Given the description of an element on the screen output the (x, y) to click on. 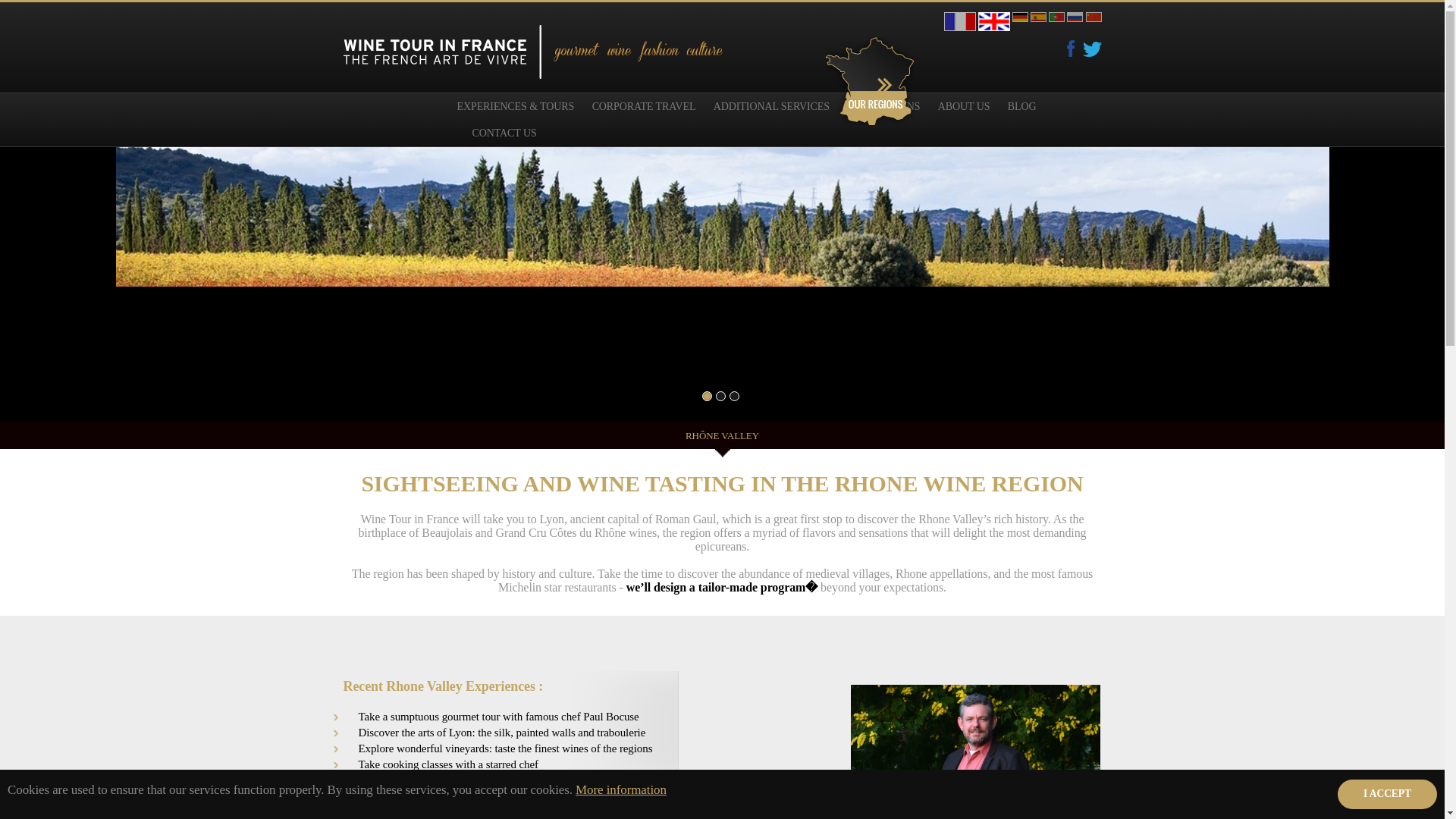
ADDITIONAL SERVICES (771, 106)
CORPORATE TRAVEL (643, 106)
English (994, 21)
OUR REGIONS (885, 106)
